Given the description of an element on the screen output the (x, y) to click on. 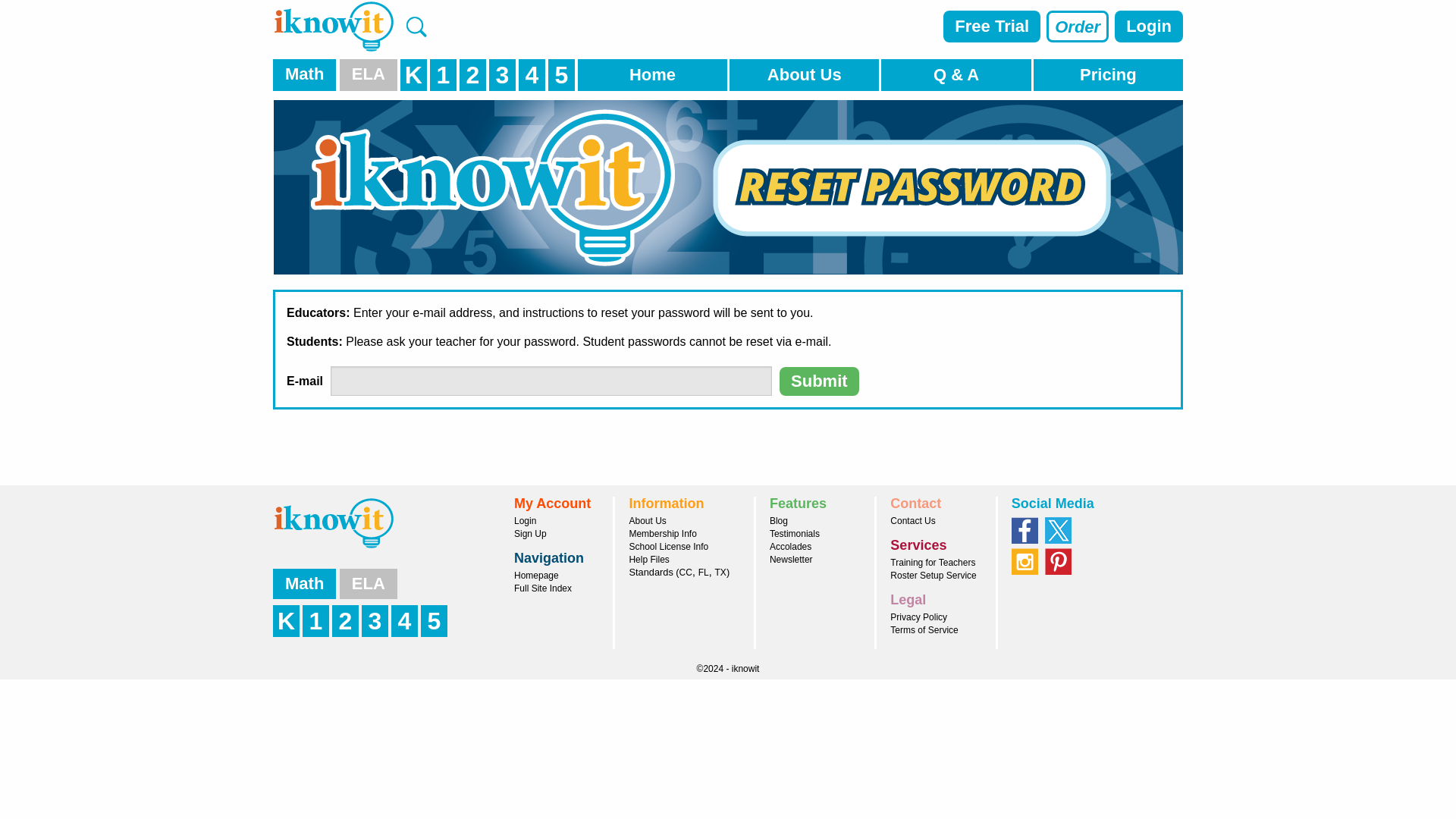
About Us (804, 74)
Login (1148, 26)
3 (503, 78)
Search Lessons (416, 26)
5 (563, 78)
Free Trial (992, 26)
Fourth Grade Math (533, 78)
Pricing (1107, 74)
4 (533, 78)
Fifth Grade Math (563, 78)
